Given the description of an element on the screen output the (x, y) to click on. 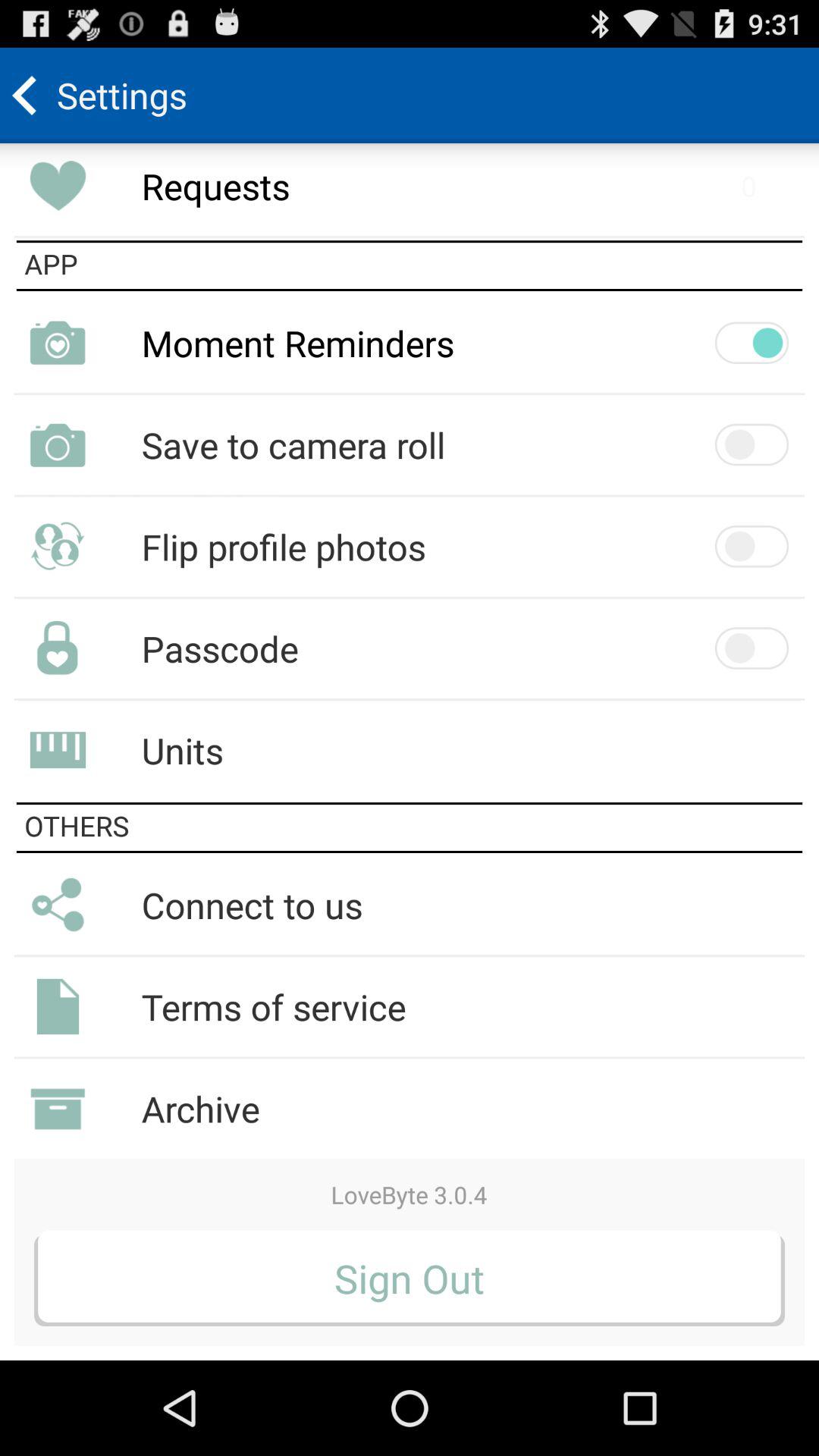
open icon below the lovebyte 3 0 item (409, 1278)
